Given the description of an element on the screen output the (x, y) to click on. 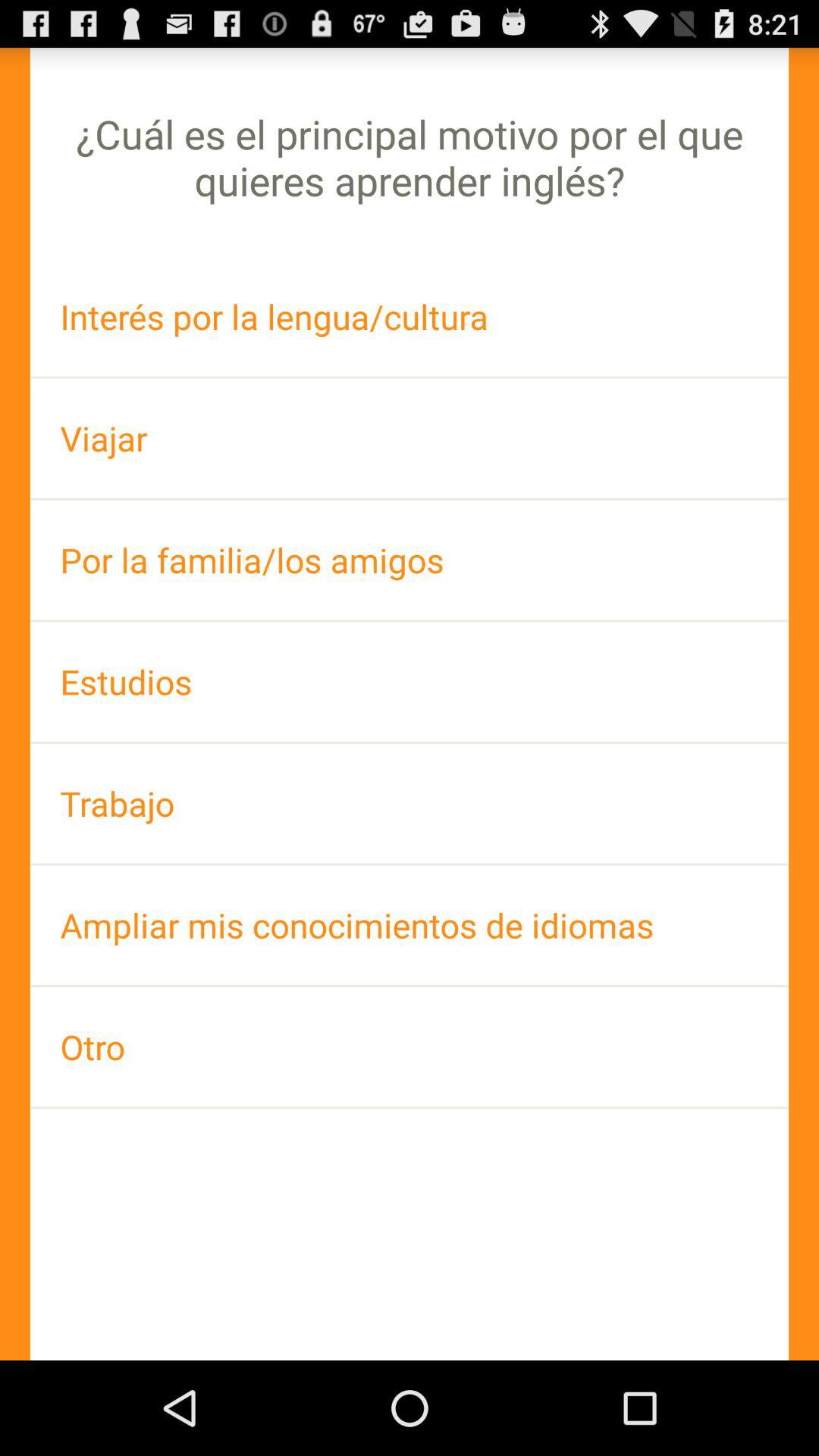
select the viajar app (409, 438)
